Given the description of an element on the screen output the (x, y) to click on. 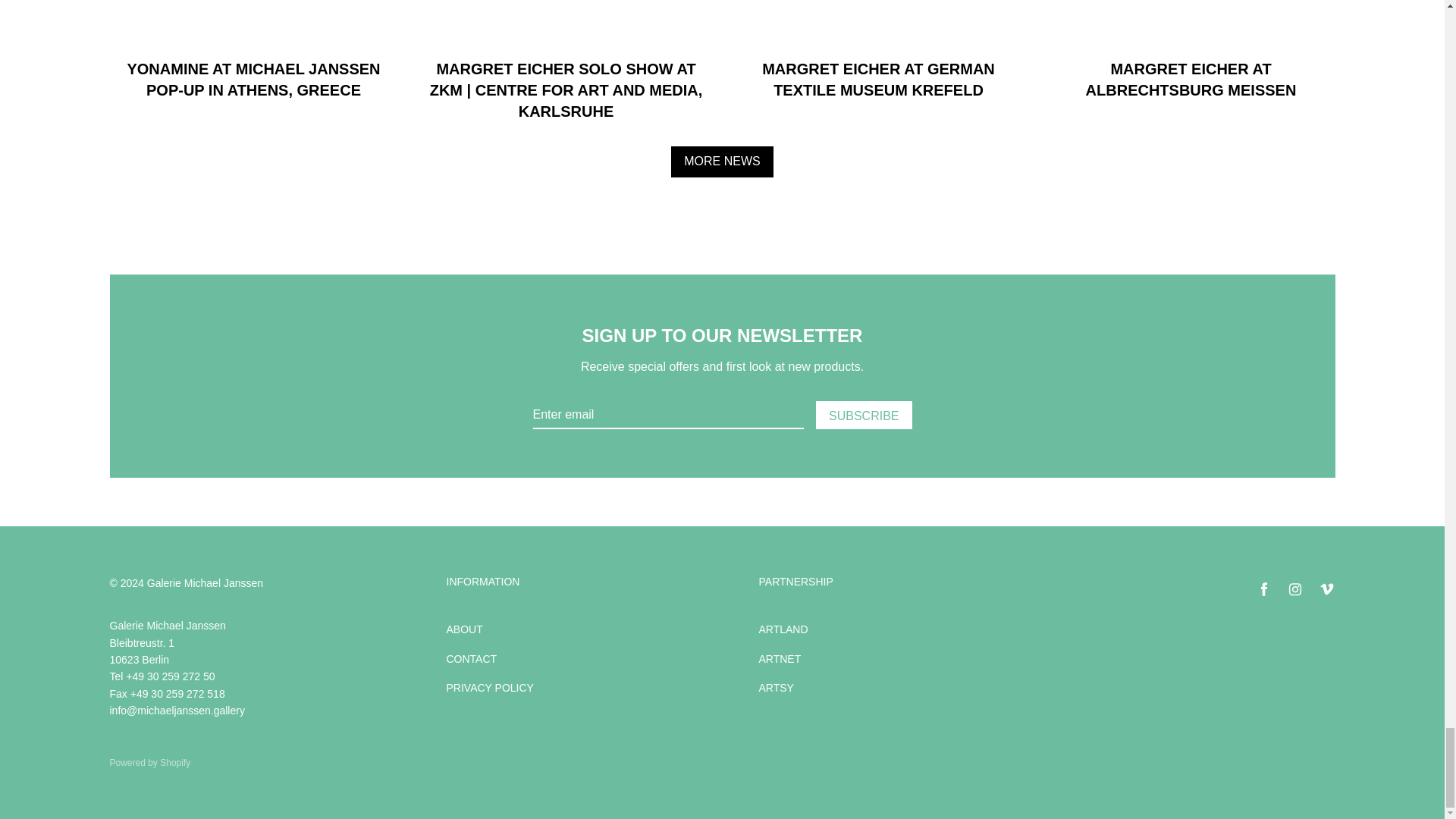
Galerie Michael Janssen on Vimeo (1326, 589)
Galerie Michael Janssen on Facebook (1263, 589)
Galerie Michael Janssen on Instagram (1295, 589)
